Given the description of an element on the screen output the (x, y) to click on. 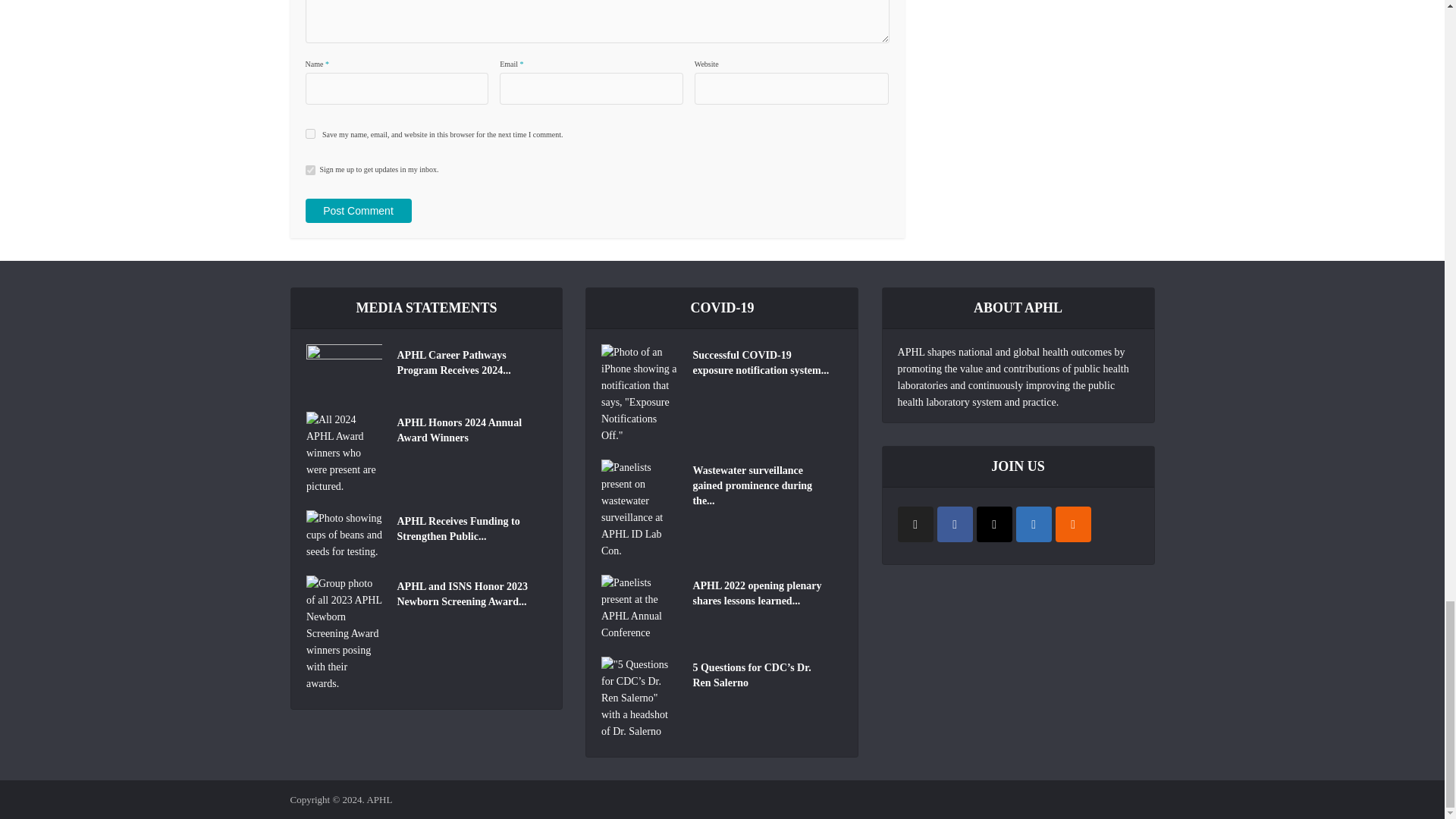
1 (309, 170)
yes (309, 133)
Post Comment (357, 210)
